Given the description of an element on the screen output the (x, y) to click on. 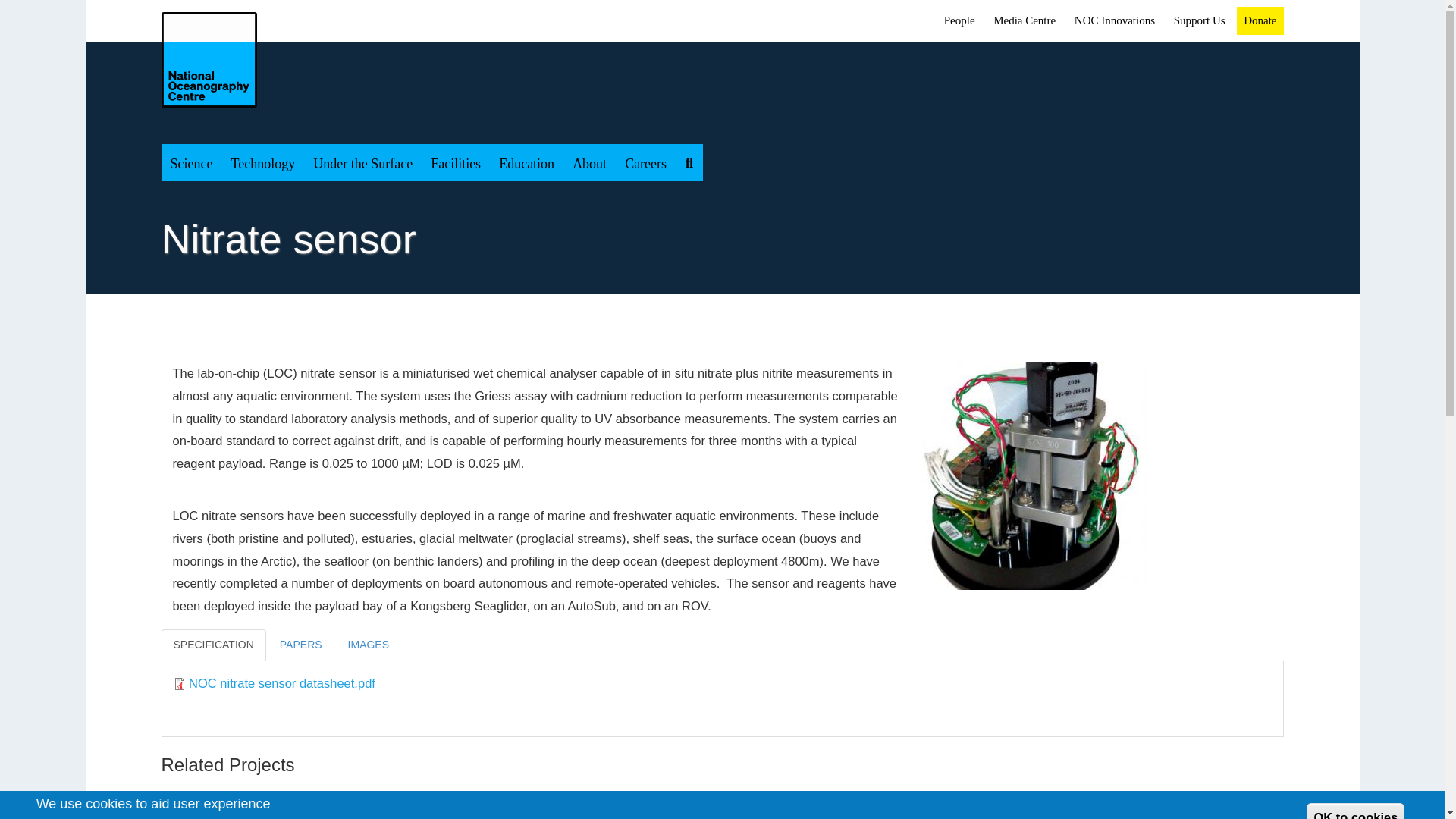
Education (526, 162)
Facilities (455, 162)
Careers (645, 162)
About (589, 162)
Visit the NOC Innovations website (1114, 20)
Under the Surface (363, 162)
Make a single or regular donation (1259, 20)
Technology (262, 162)
Support the NOC with a gift (1199, 20)
Science (190, 162)
